Given the description of an element on the screen output the (x, y) to click on. 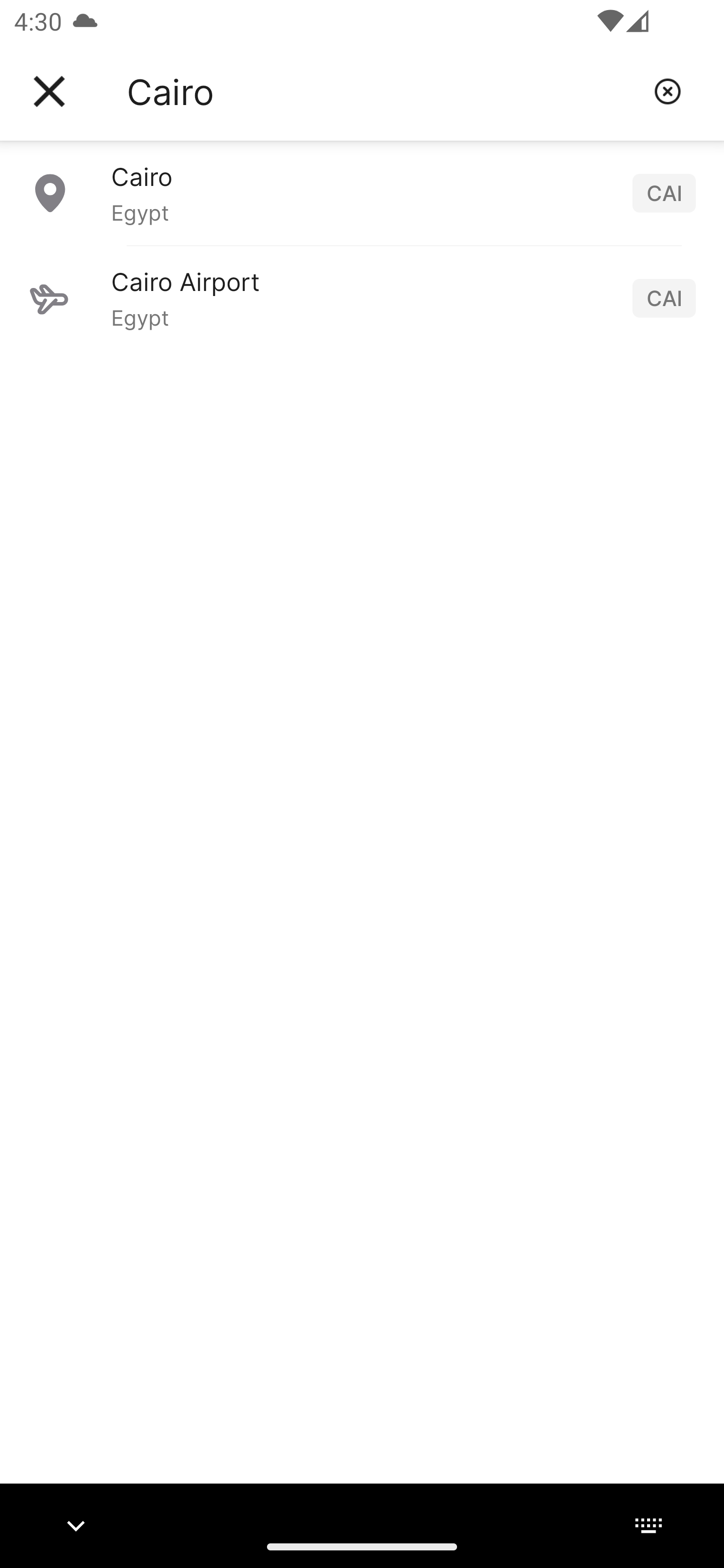
Cairo (382, 91)
Cairo Egypt CAI (362, 192)
Cairo Airport Egypt CAI (362, 297)
